Given the description of an element on the screen output the (x, y) to click on. 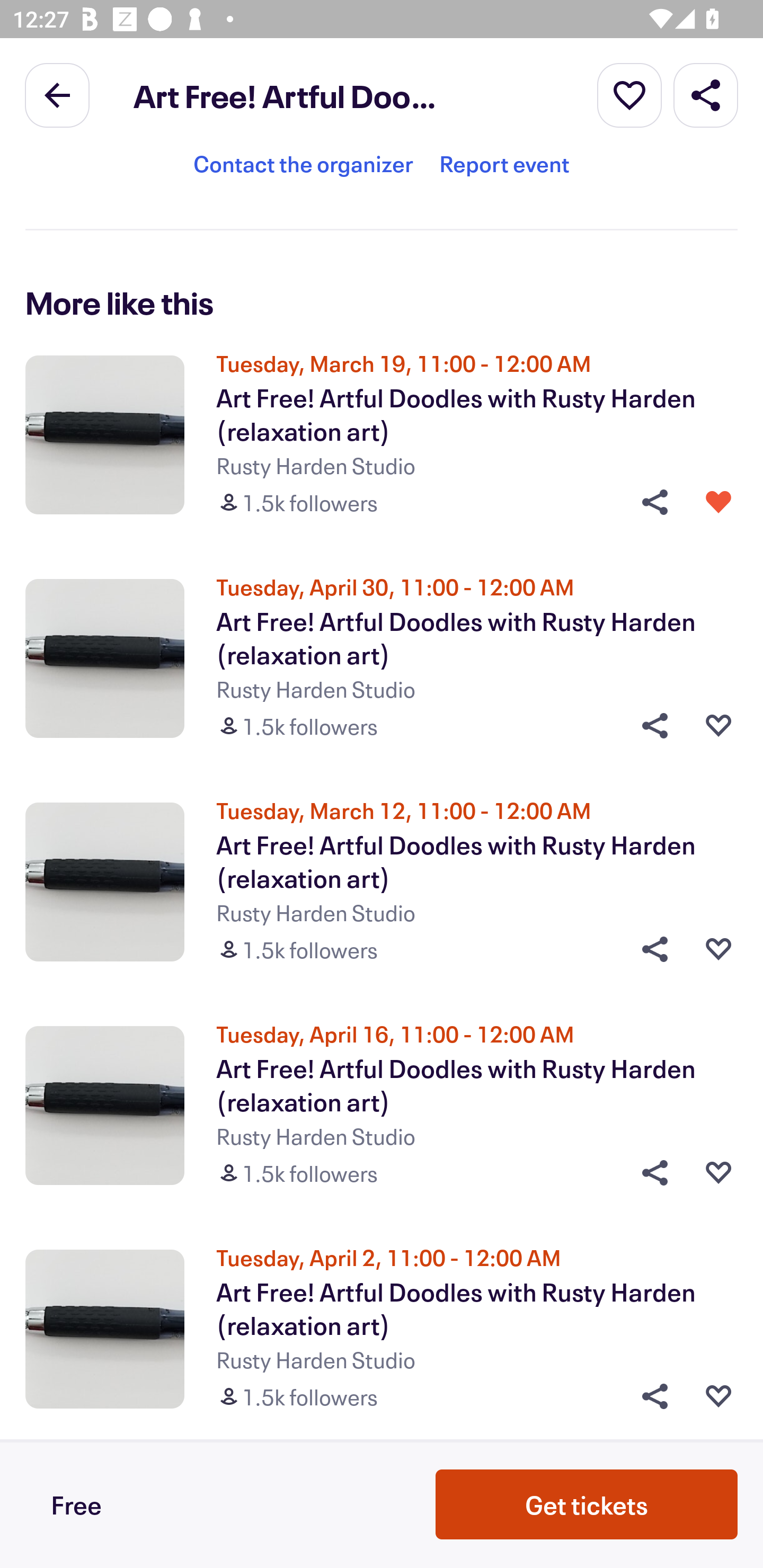
Back (57, 94)
More (629, 94)
Share (705, 94)
Contact the organizer (303, 170)
Report event (504, 170)
Share (648, 502)
Like (718, 502)
Share (648, 725)
Like (718, 725)
Share (648, 949)
Like (718, 949)
Share (648, 1172)
Like (718, 1172)
Share (648, 1395)
Like (718, 1395)
Get tickets (586, 1504)
